Given the description of an element on the screen output the (x, y) to click on. 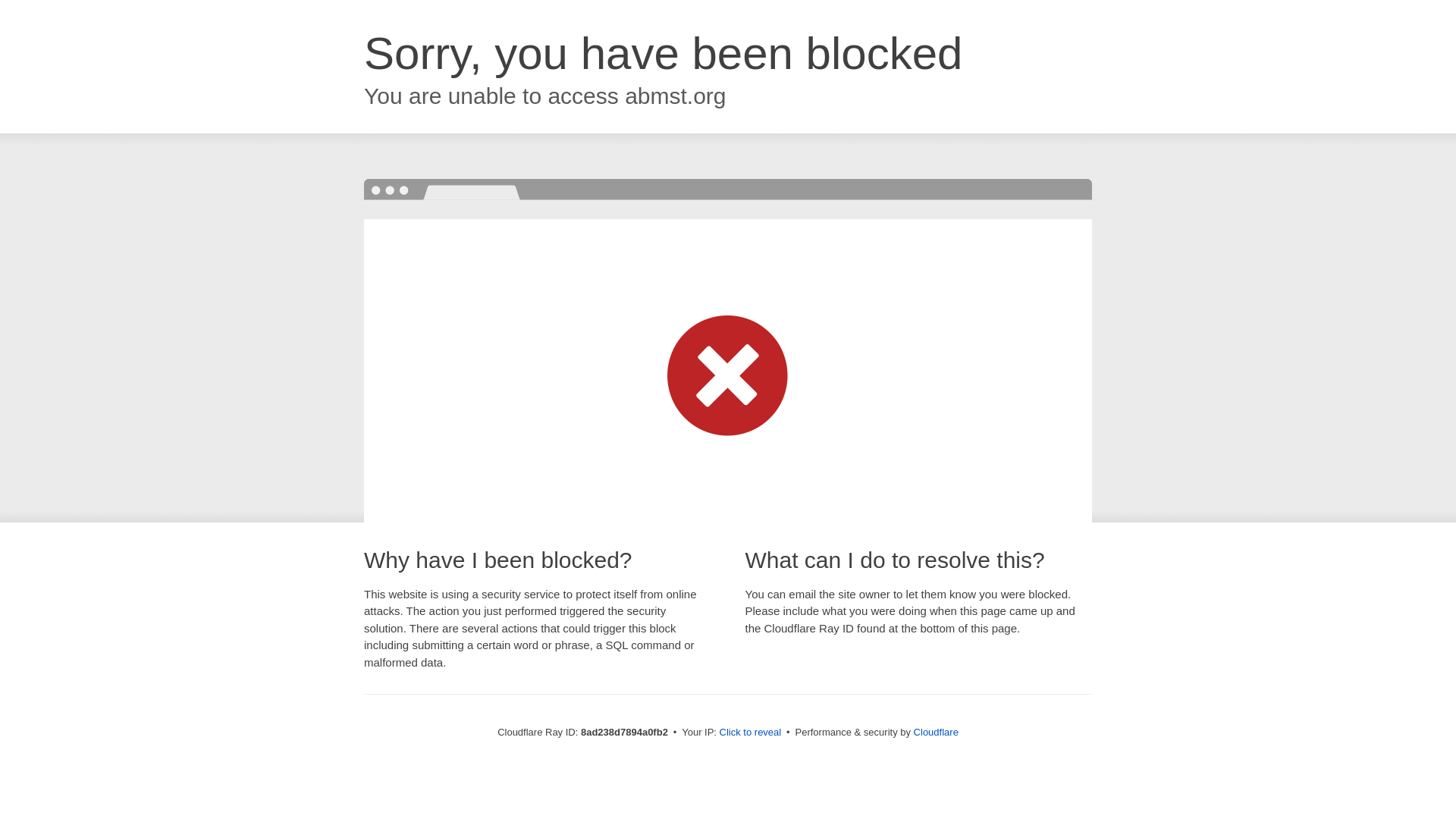
Click to reveal (750, 732)
Cloudflare (936, 731)
